Given the description of an element on the screen output the (x, y) to click on. 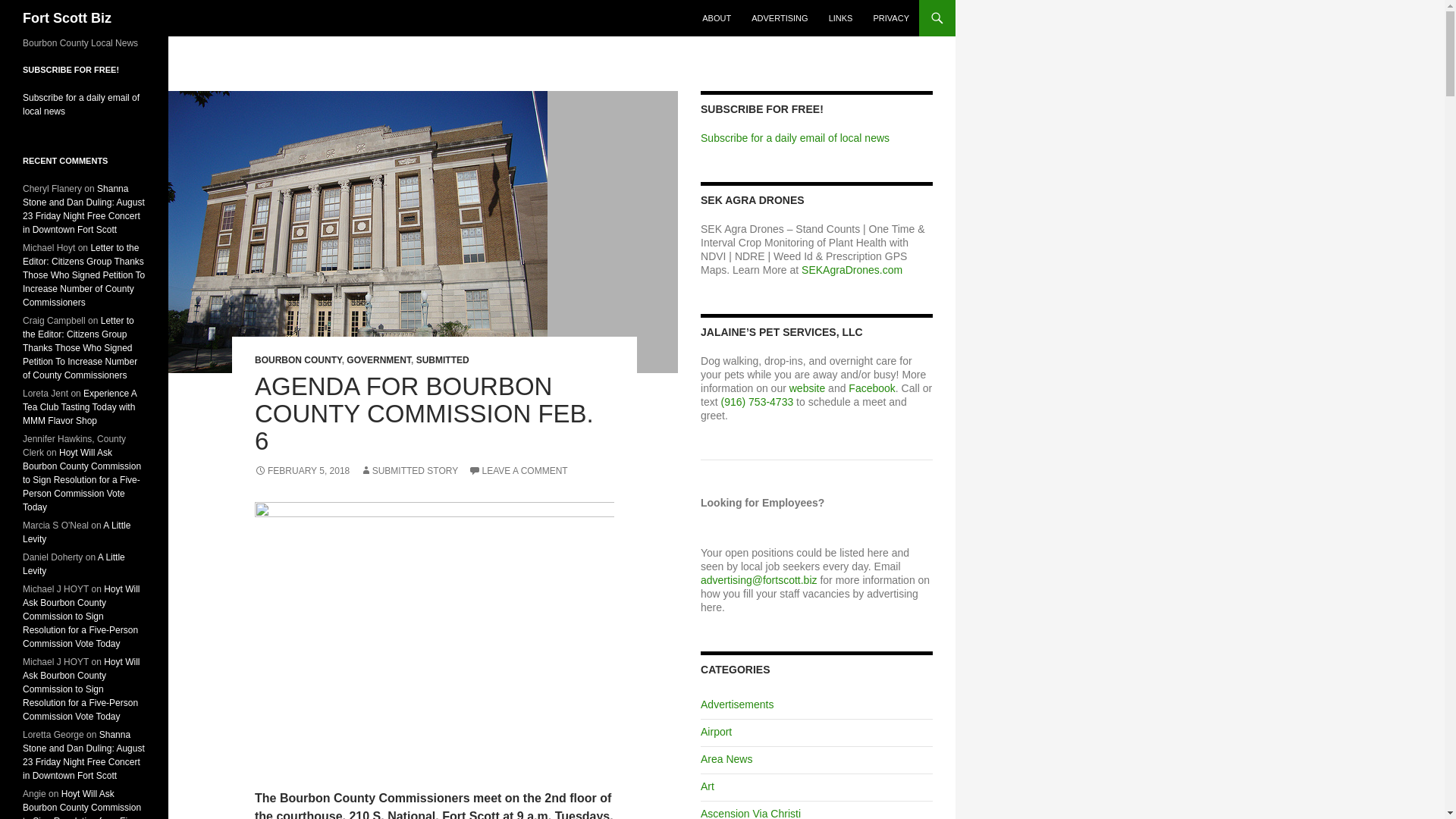
PRIVACY (891, 18)
website (807, 387)
Fort Scott Biz (67, 18)
SUBMITTED STORY (408, 470)
Ascension Via Christi (750, 813)
Area News (726, 758)
LINKS (840, 18)
SEKAgraDrones.com (852, 269)
BOURBON COUNTY (298, 359)
Subscribe for a daily email of local news (794, 137)
